Given the description of an element on the screen output the (x, y) to click on. 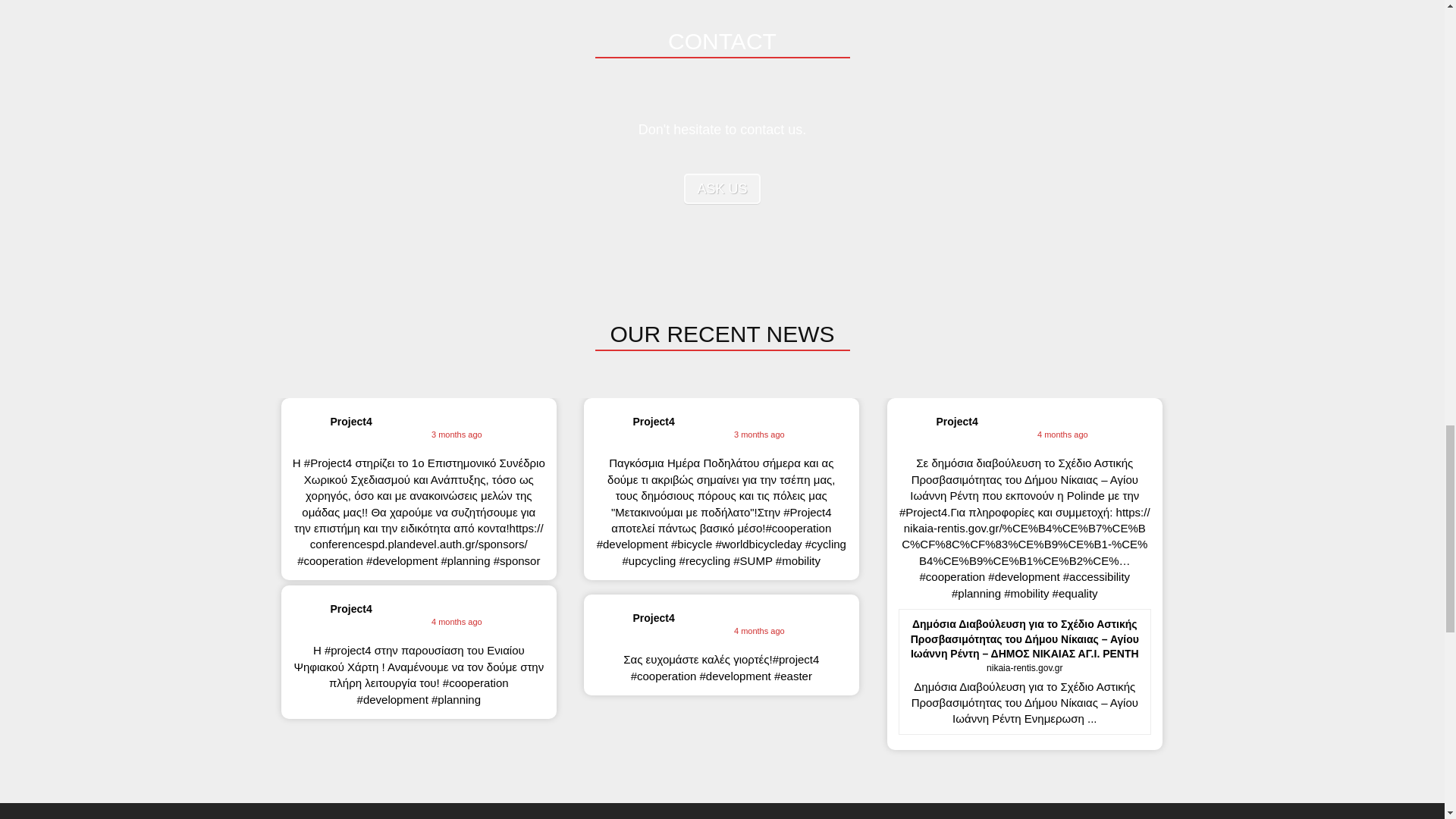
Project4 (351, 421)
Project4 (652, 421)
ASK US (722, 188)
